Given the description of an element on the screen output the (x, y) to click on. 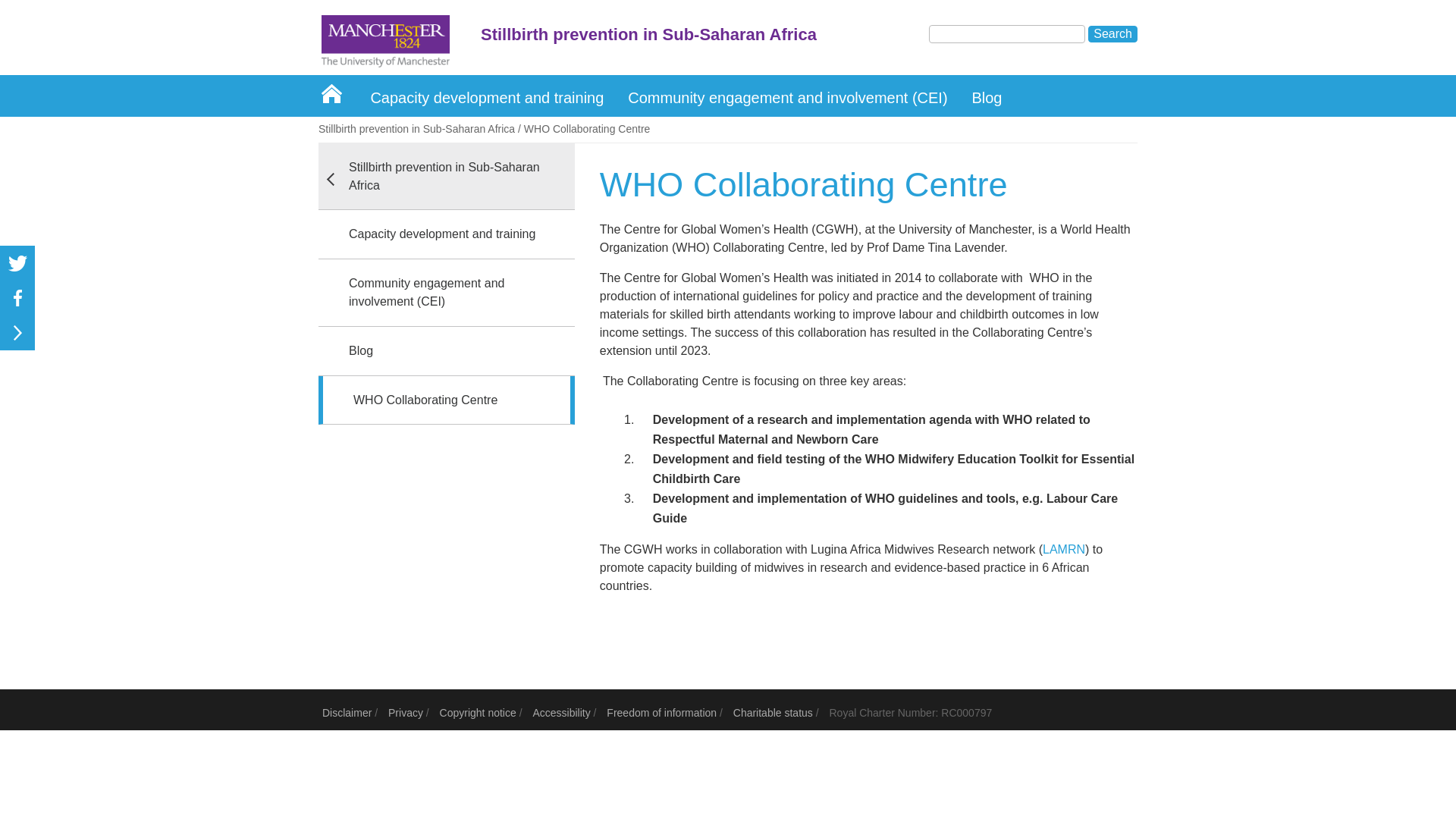
Stillbirth prevention in Sub-Saharan Africa (743, 38)
Search (1112, 33)
WHO Collaborating Centre (420, 137)
LAMRN (1063, 549)
Search (1112, 33)
Stillbirth prevention in Sub-Saharan Africa (446, 176)
Capacity development and training (486, 96)
Blog (985, 96)
WHO Collaborating Centre (446, 400)
Capacity development and training (446, 233)
Blog (446, 350)
Stillbirth prevention in Sub-Saharan Africa (416, 128)
